Given the description of an element on the screen output the (x, y) to click on. 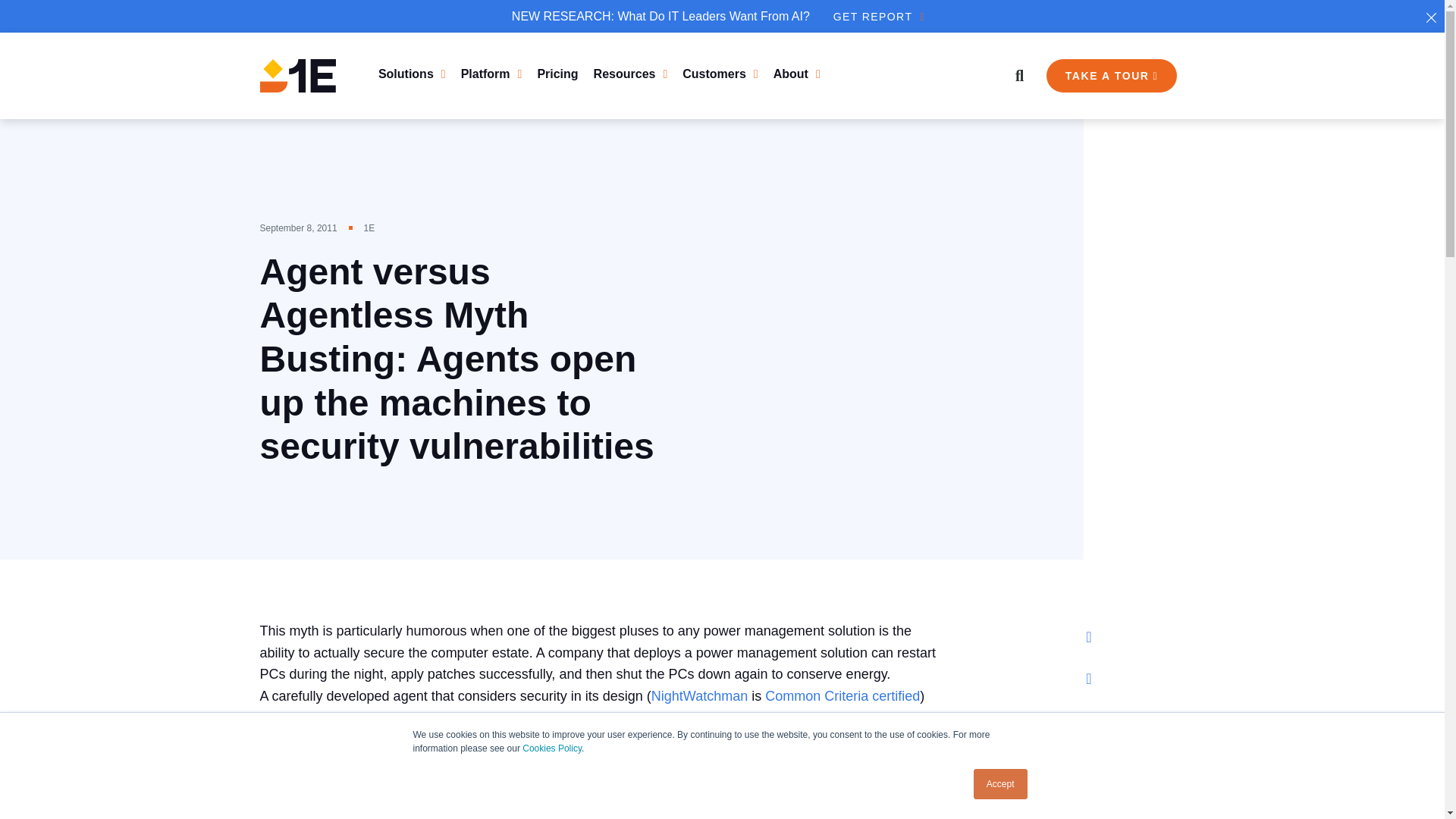
Accept (1000, 784)
1E Logo (296, 75)
GET REPORT (878, 16)
Cookies Policy (551, 747)
